Given the description of an element on the screen output the (x, y) to click on. 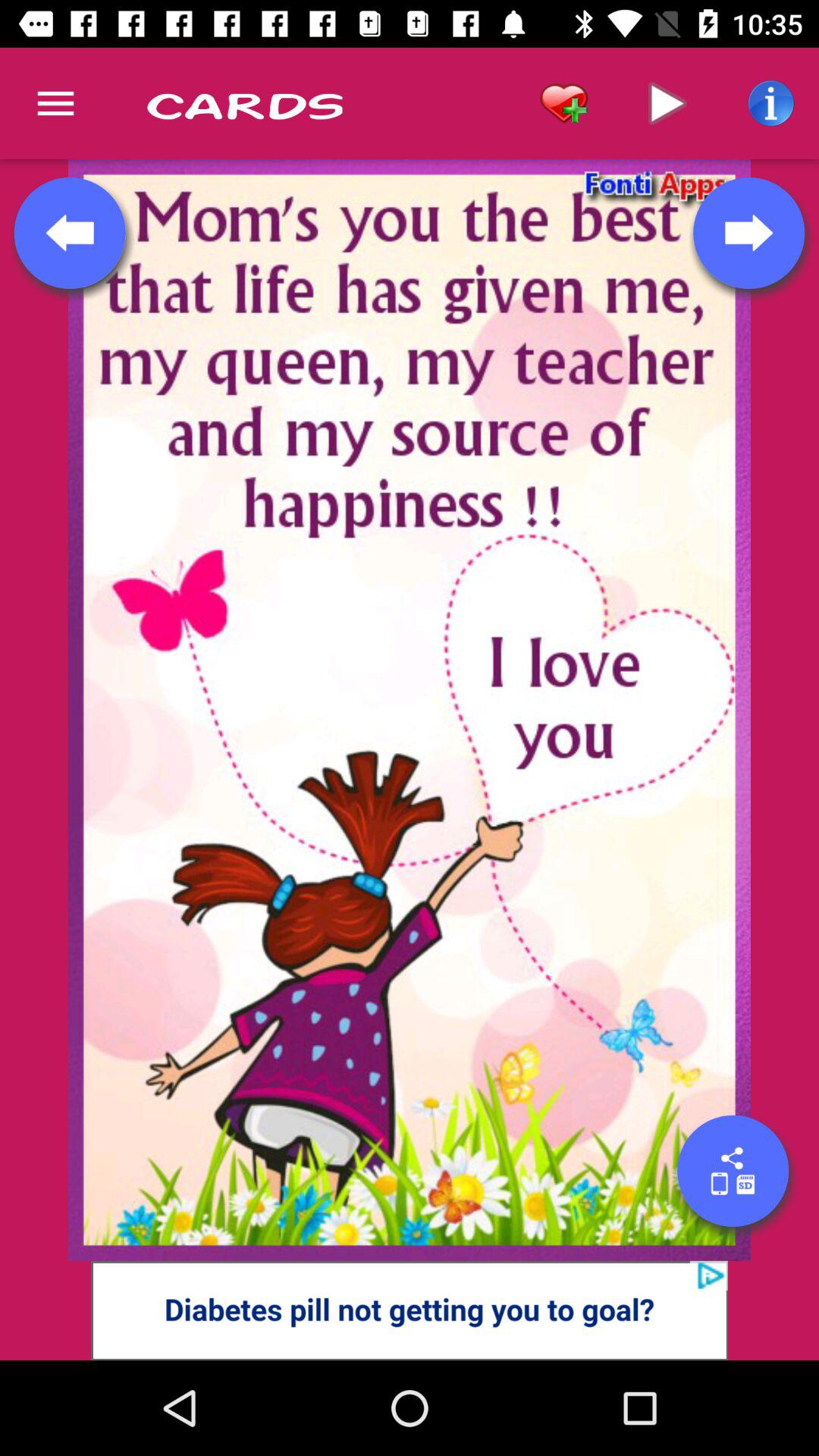
advertisement (409, 1310)
